Given the description of an element on the screen output the (x, y) to click on. 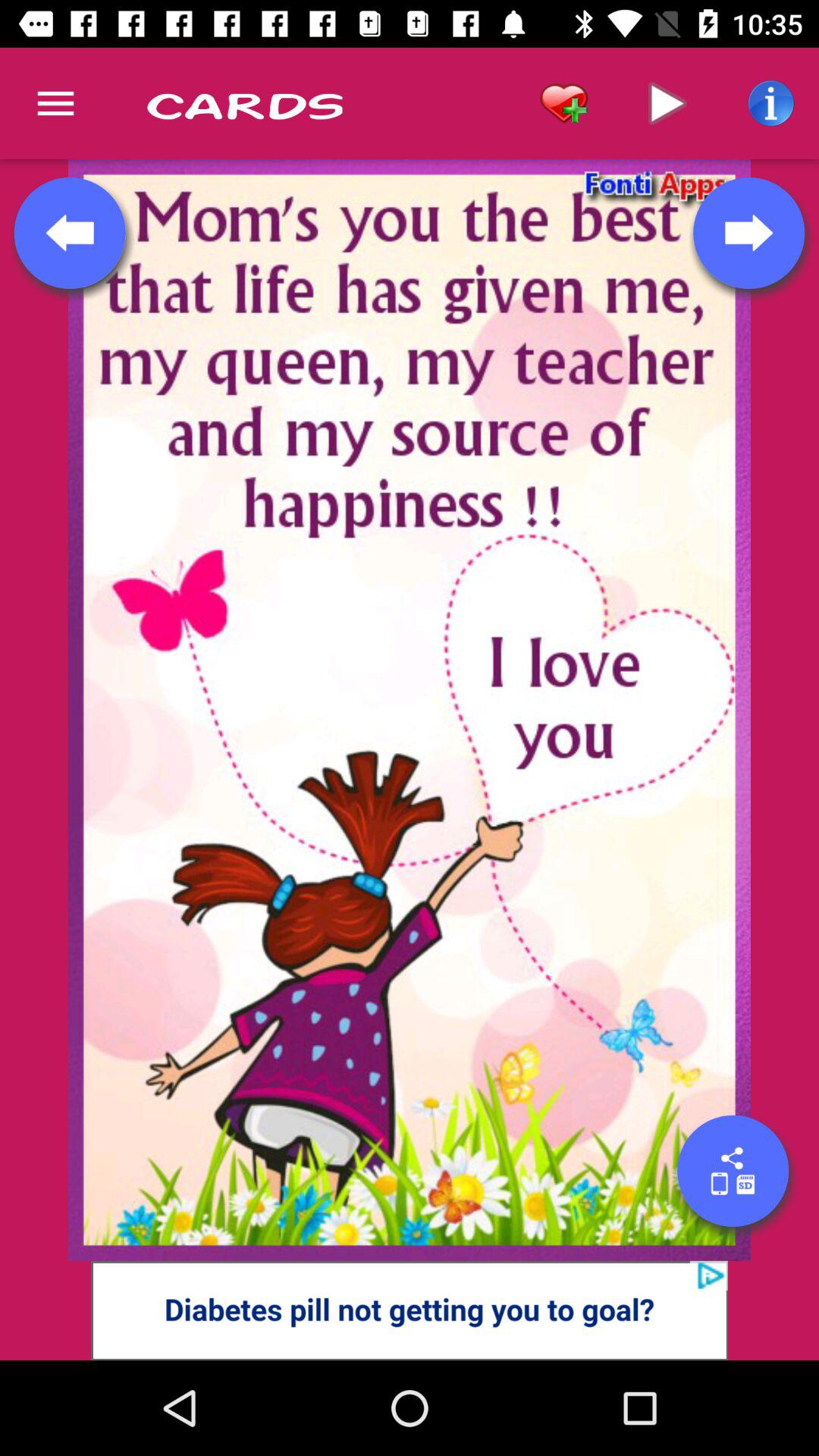
advertisement (409, 1310)
